Given the description of an element on the screen output the (x, y) to click on. 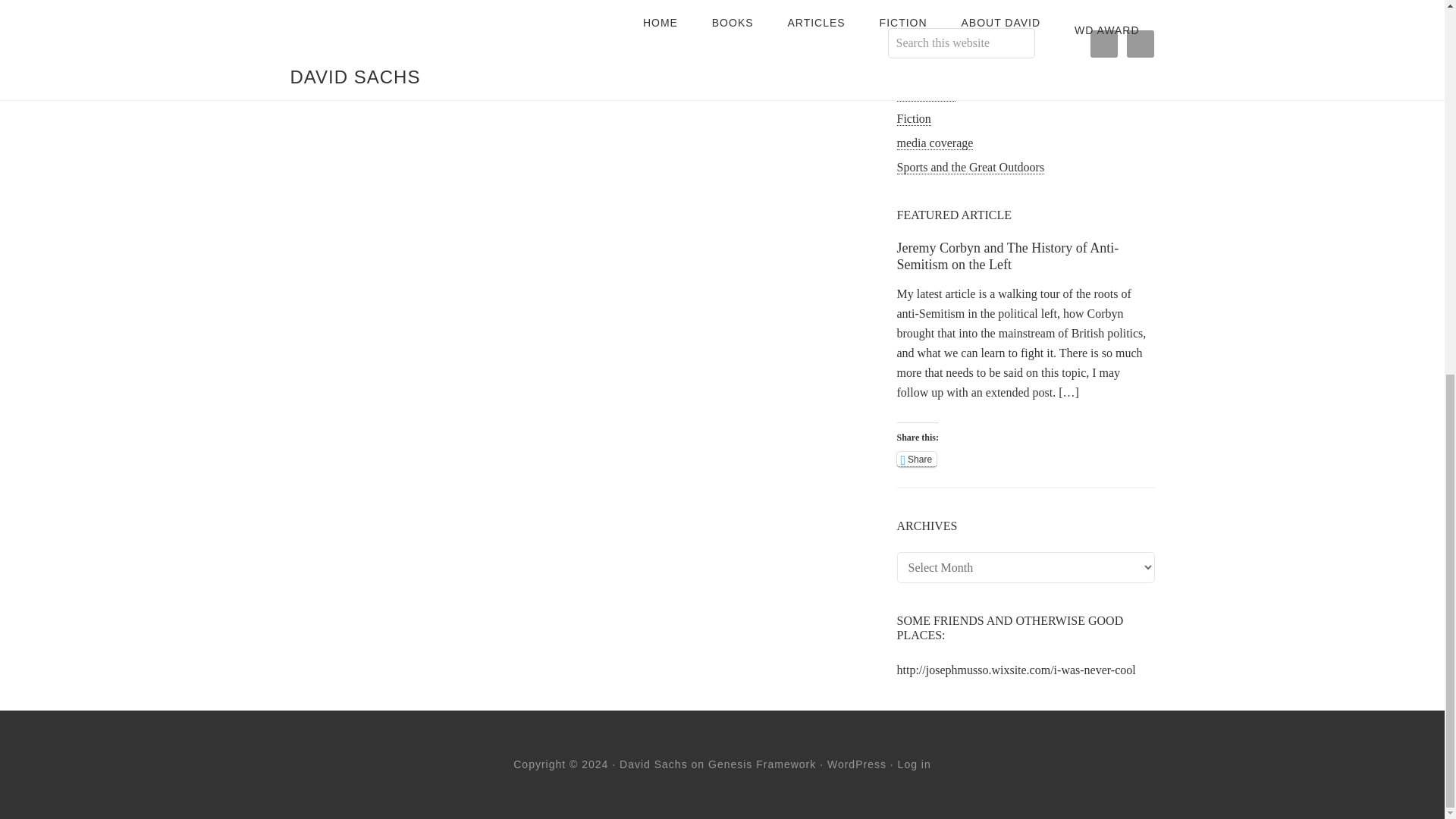
Jeremy Corbyn and The History of Anti-Semitism on the Left (1007, 255)
WordPress (856, 764)
Fiction (913, 119)
Articles (915, 21)
David Sachs (653, 764)
Artsy (909, 46)
Genesis Framework (761, 764)
media coverage (934, 142)
Canadian politics (938, 69)
Log in (914, 764)
